Given the description of an element on the screen output the (x, y) to click on. 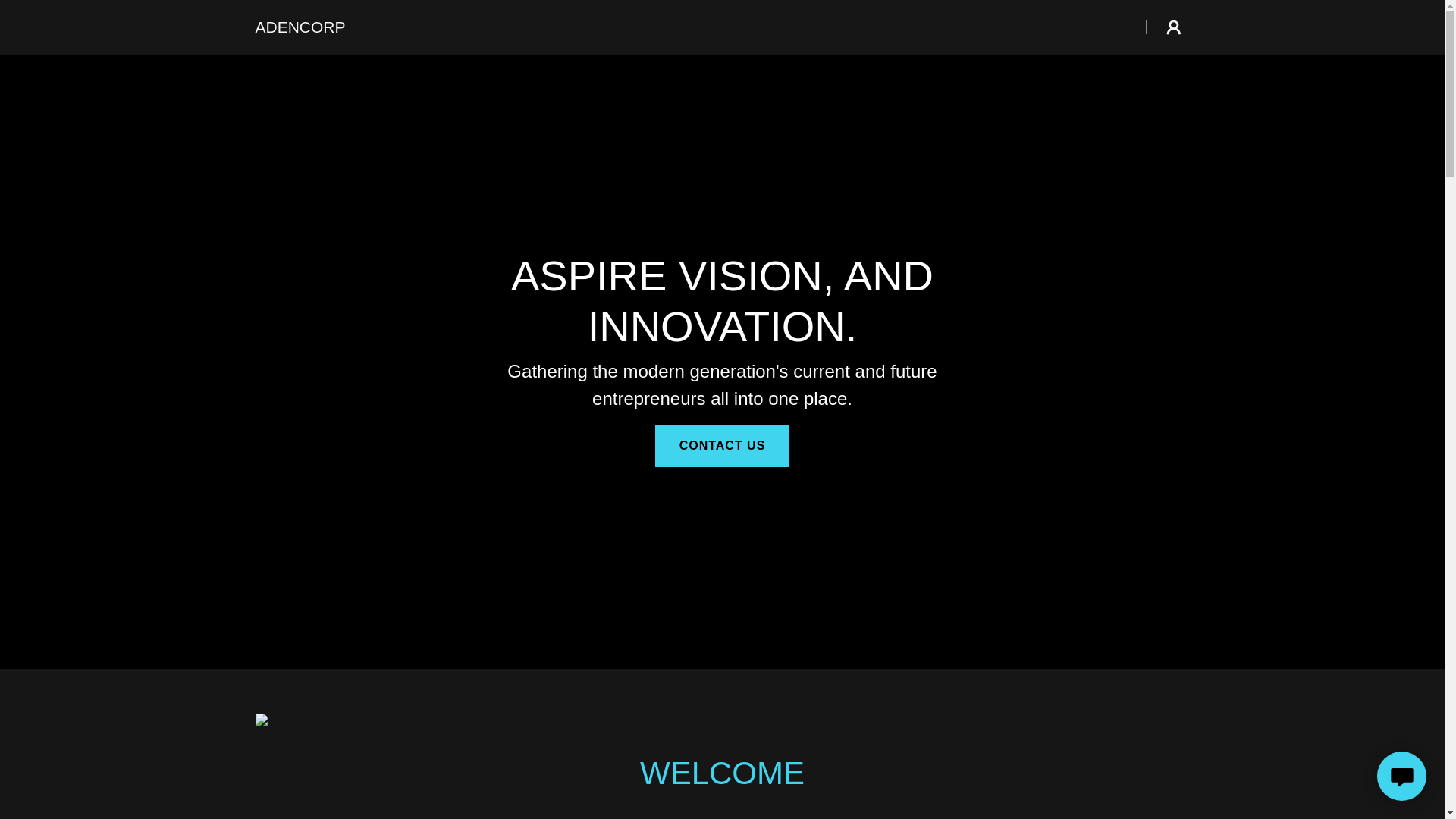
ADENCORP (299, 28)
ADENCORP (299, 28)
